Given the description of an element on the screen output the (x, y) to click on. 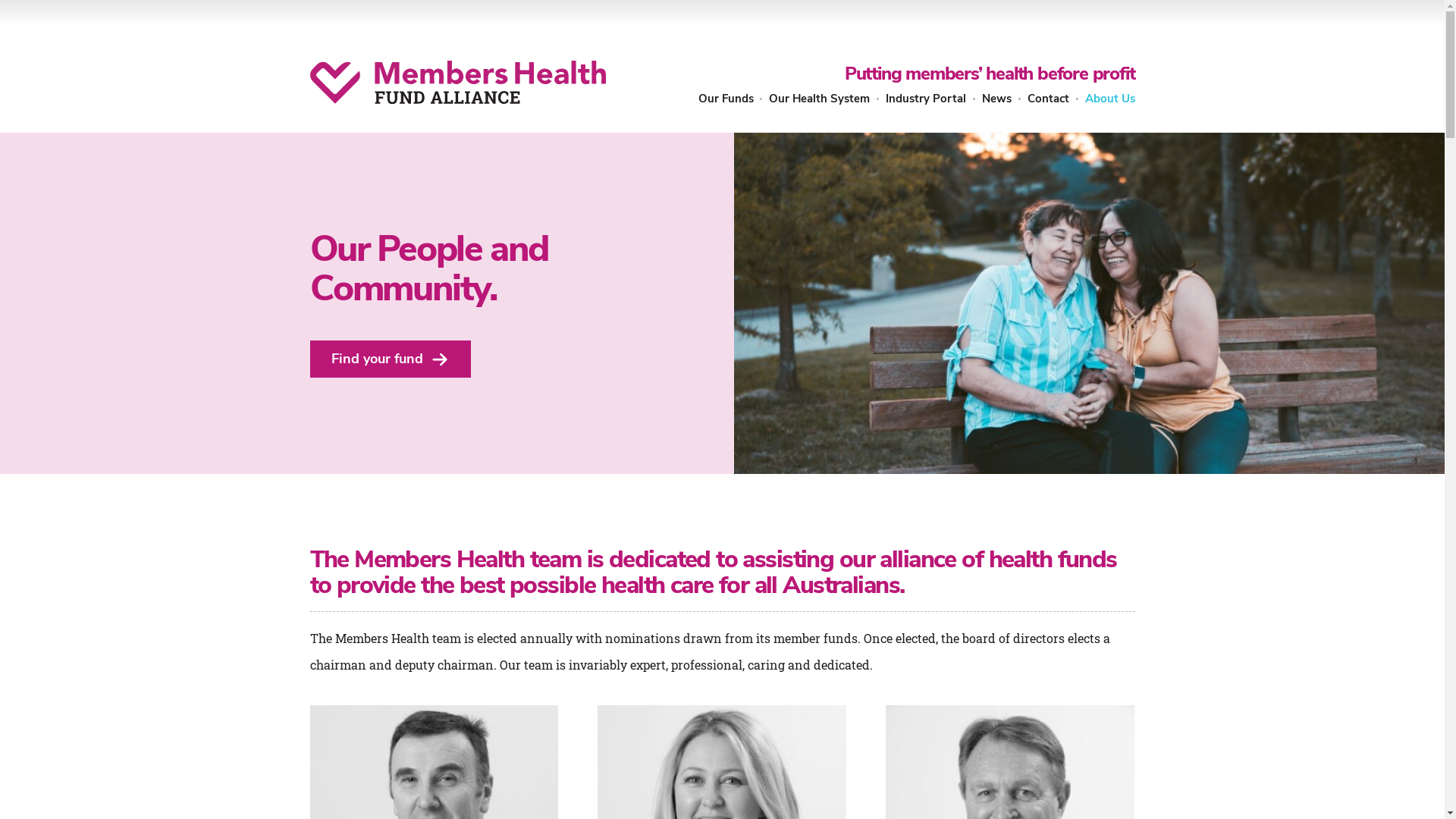
Industry Portal Element type: text (925, 98)
Contact Element type: text (1048, 98)
Our Health System Element type: text (818, 98)
About Us Element type: text (1109, 98)
Find your fund Element type: text (389, 358)
Login Element type: text (873, 412)
News Element type: text (996, 98)
Our Funds Element type: text (725, 98)
